Given the description of an element on the screen output the (x, y) to click on. 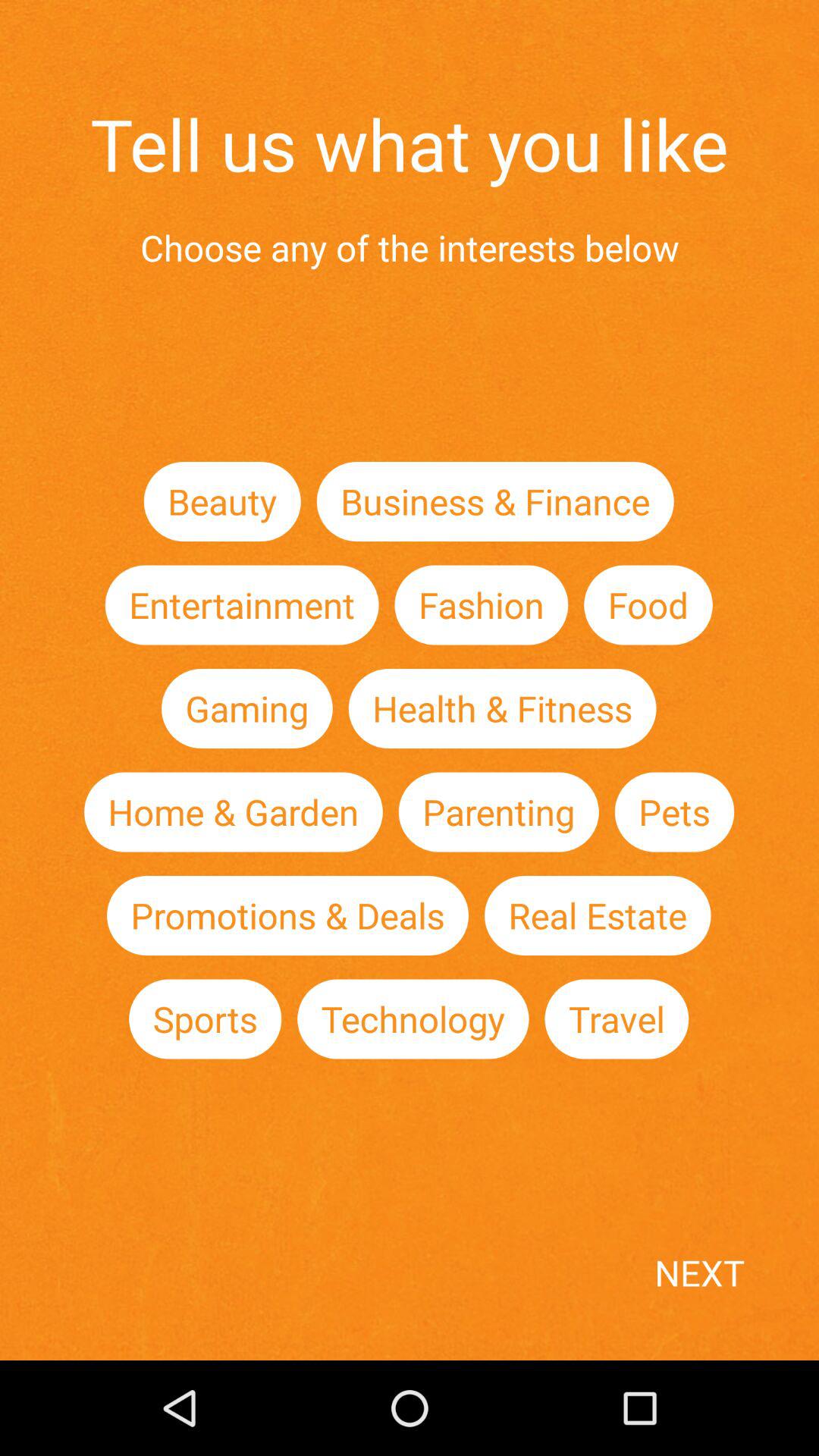
tap item below the beauty item (241, 604)
